Given the description of an element on the screen output the (x, y) to click on. 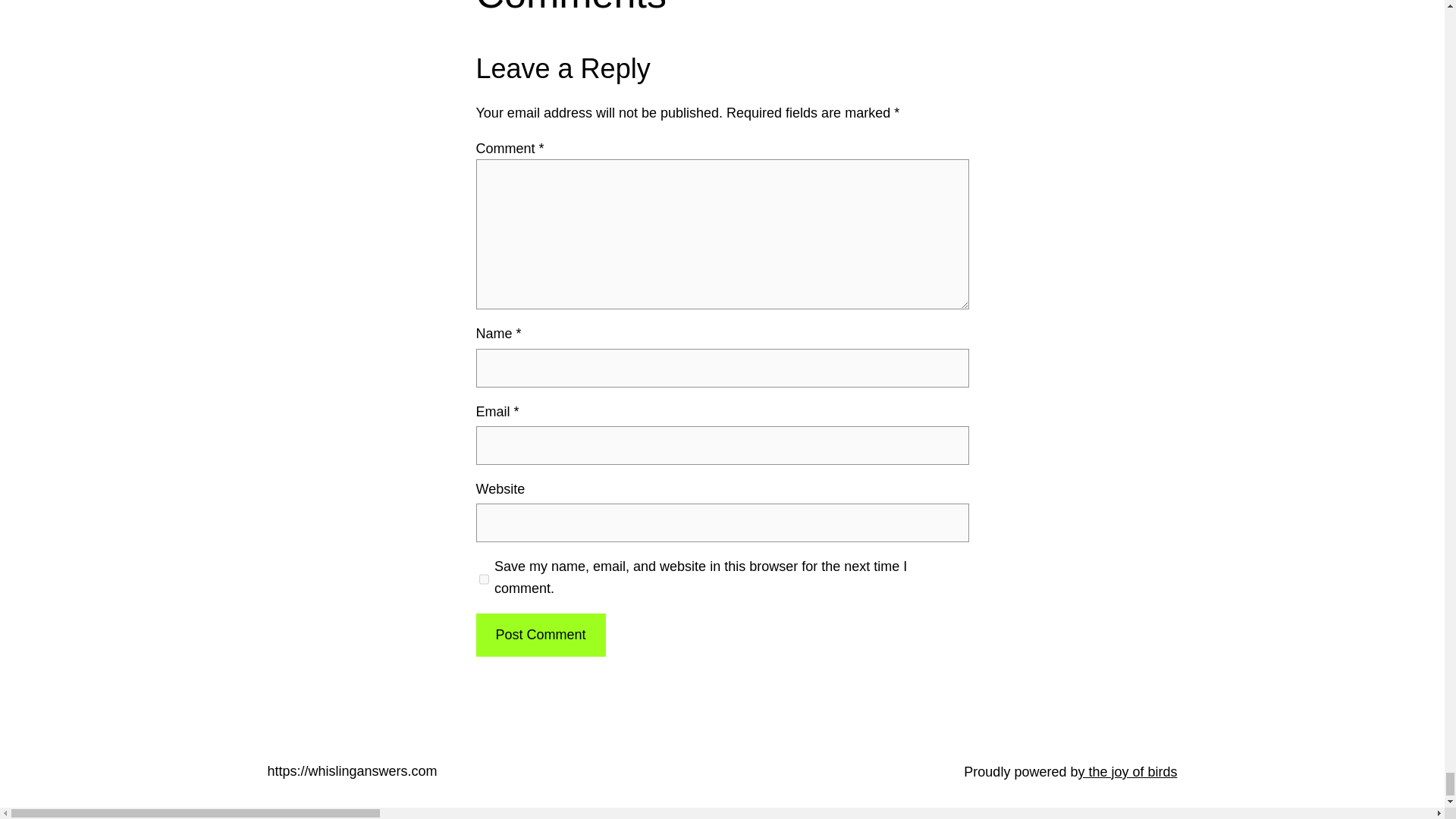
Post Comment (540, 634)
Post Comment (540, 634)
y the joy of birds (1126, 771)
